Given the description of an element on the screen output the (x, y) to click on. 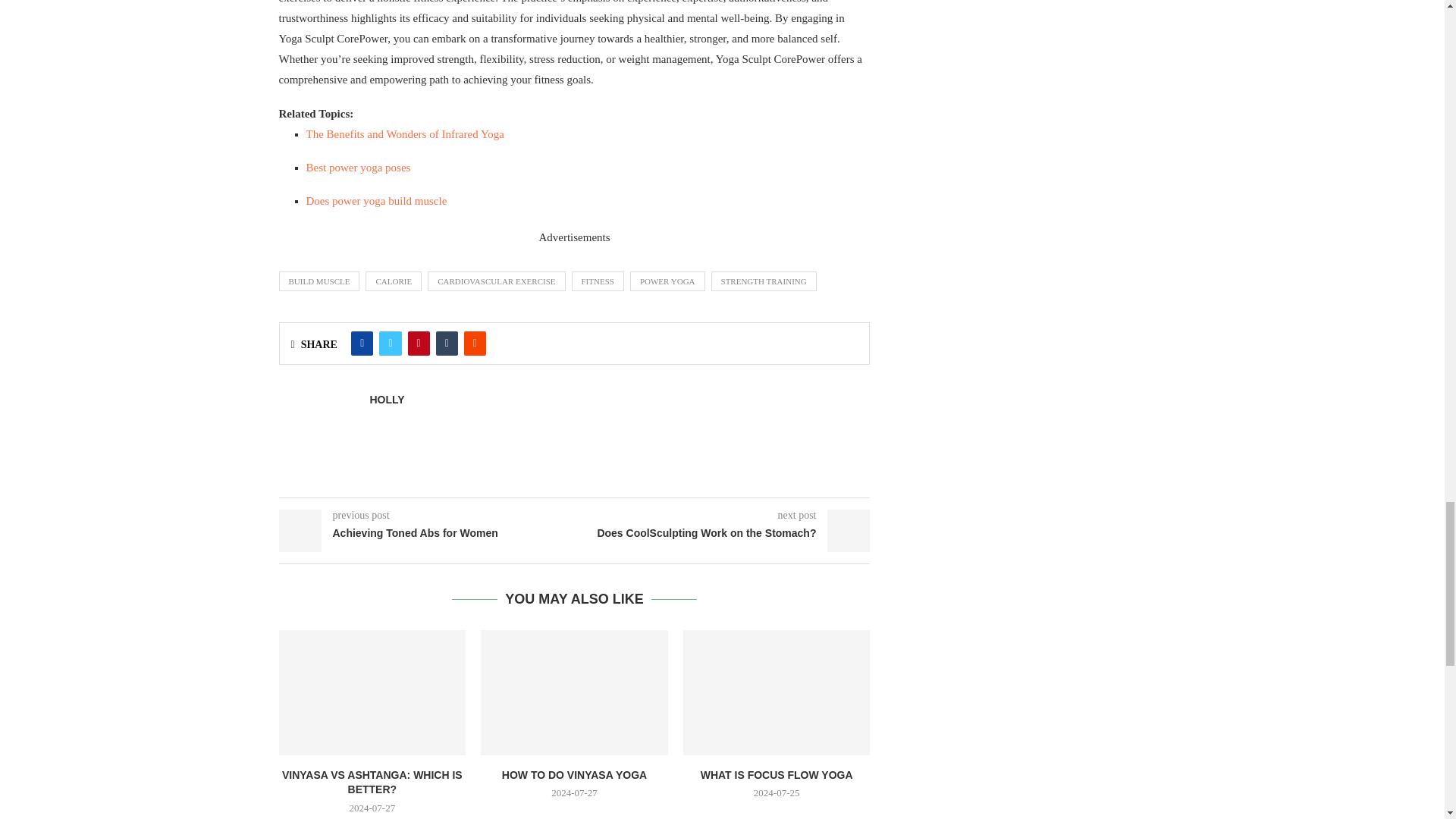
Vinyasa Vs Ashtanga: Which Is Better? (372, 691)
What Is Focus Flow Yoga (776, 691)
How To Do Vinyasa Yoga (574, 691)
Author Holly (386, 399)
